Given the description of an element on the screen output the (x, y) to click on. 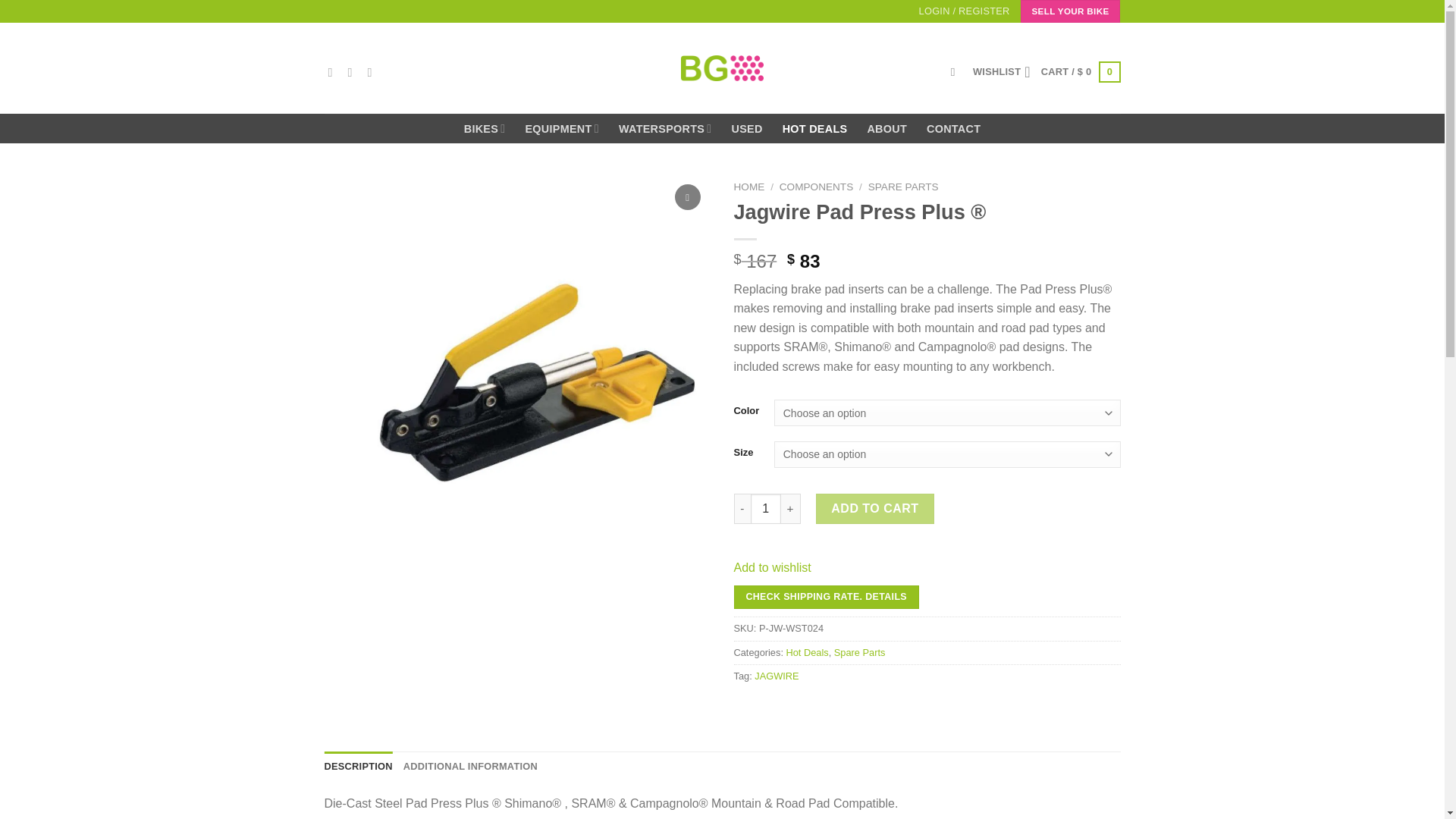
Send us an email (374, 71)
1 (765, 508)
Cart (1081, 71)
SELL YOUR BIKE (1070, 11)
Follow on Instagram (353, 71)
Check Aramex Shipping Rate (825, 597)
EQUIPMENT (561, 128)
Bike Generation - Your Primary Destination for Bikes (721, 67)
BIKES (484, 128)
WISHLIST (1001, 71)
